Given the description of an element on the screen output the (x, y) to click on. 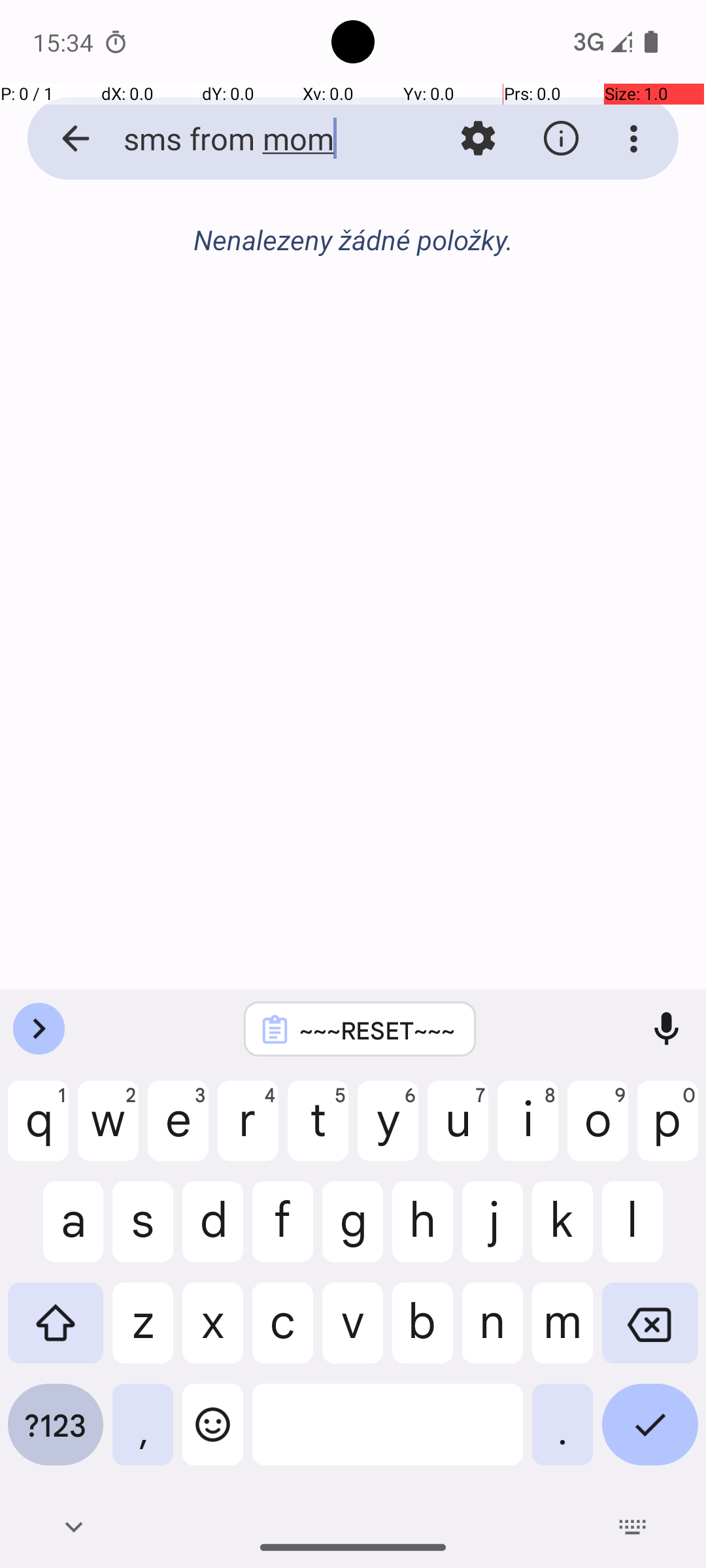
Nenalezeny žádné položky. Element type: android.widget.TextView (353, 239)
Zpět Element type: android.widget.ImageView (61, 138)
sms from mom Element type: android.widget.EditText (252, 138)
O aplikaci Element type: android.widget.Button (560, 138)
Nebyly nalezeny žádné uložené konverzace Element type: android.widget.TextView (353, 246)
Zahajte konverzaci Element type: android.widget.TextView (352, 311)
